Given the description of an element on the screen output the (x, y) to click on. 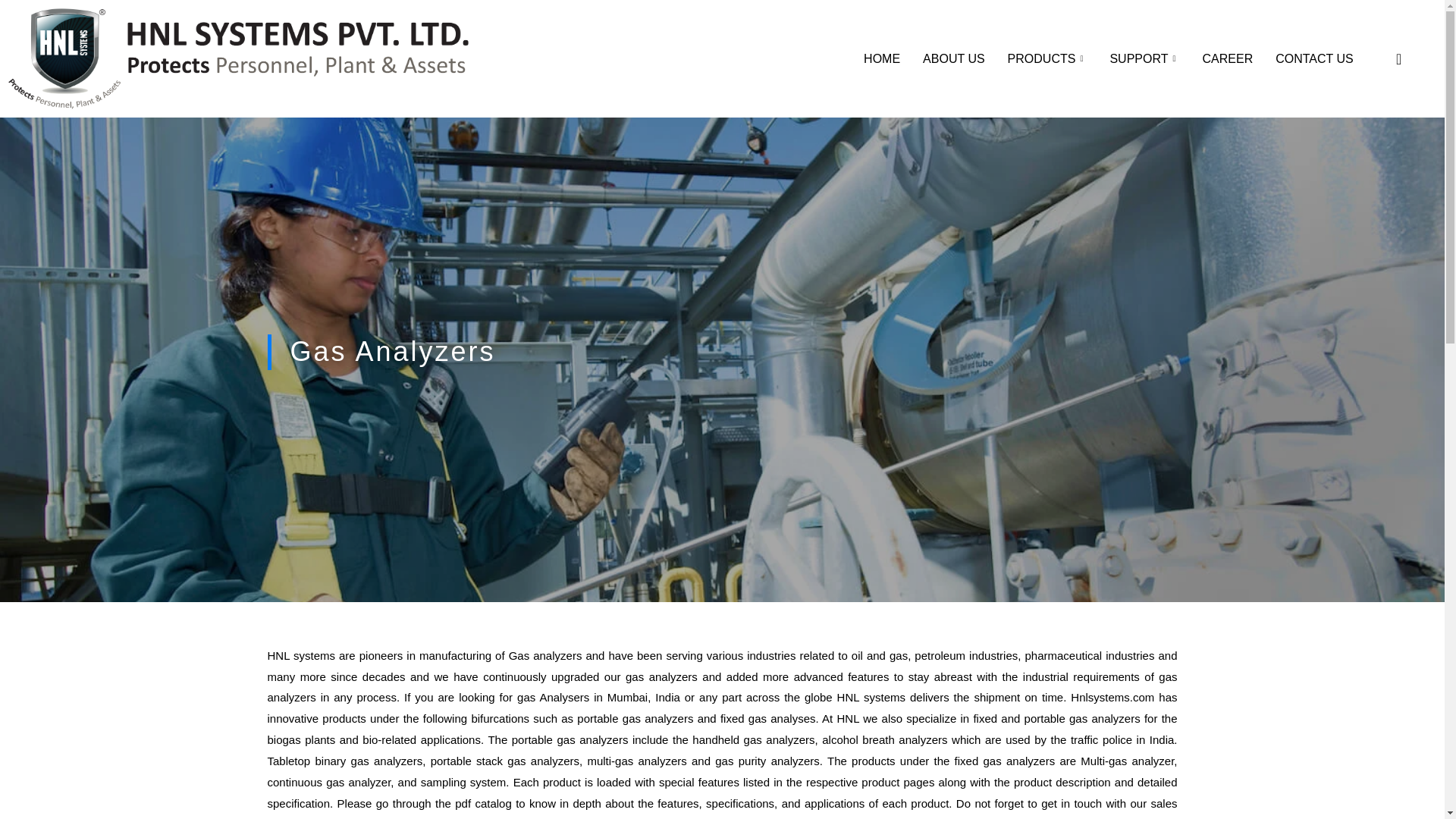
ABOUT US (953, 58)
HOME (881, 58)
PRODUCTS (1047, 58)
